Given the description of an element on the screen output the (x, y) to click on. 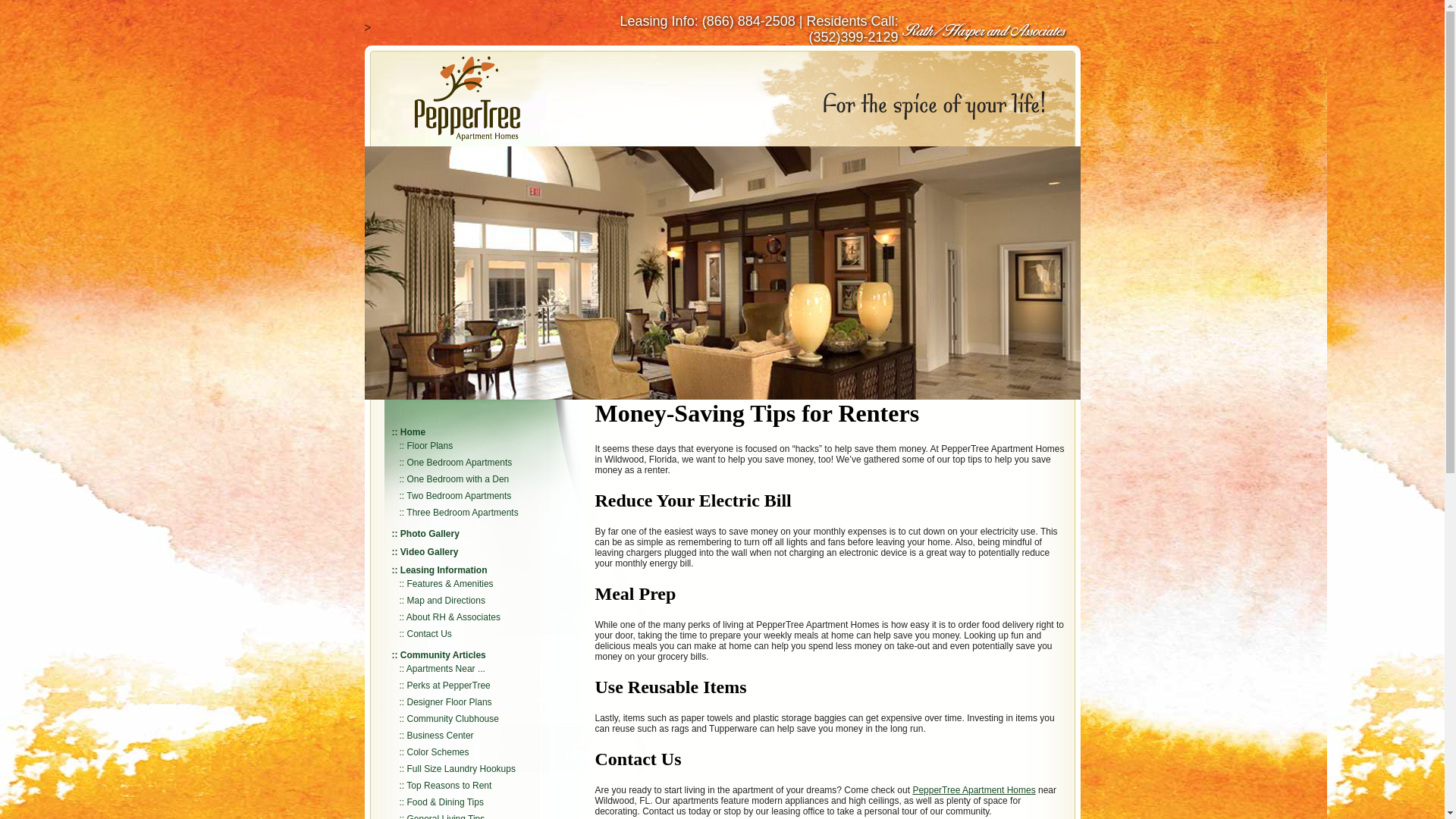
Leasing Information (443, 570)
Map and Directions (445, 600)
Top Reasons to Rent (449, 785)
Community Articles (443, 655)
Floor Plans (429, 445)
Photo Gallery (430, 533)
Two Bedroom Apartments (458, 495)
General Living Tips (445, 816)
Community Clubhouse (453, 718)
Business Center (440, 735)
